Given the description of an element on the screen output the (x, y) to click on. 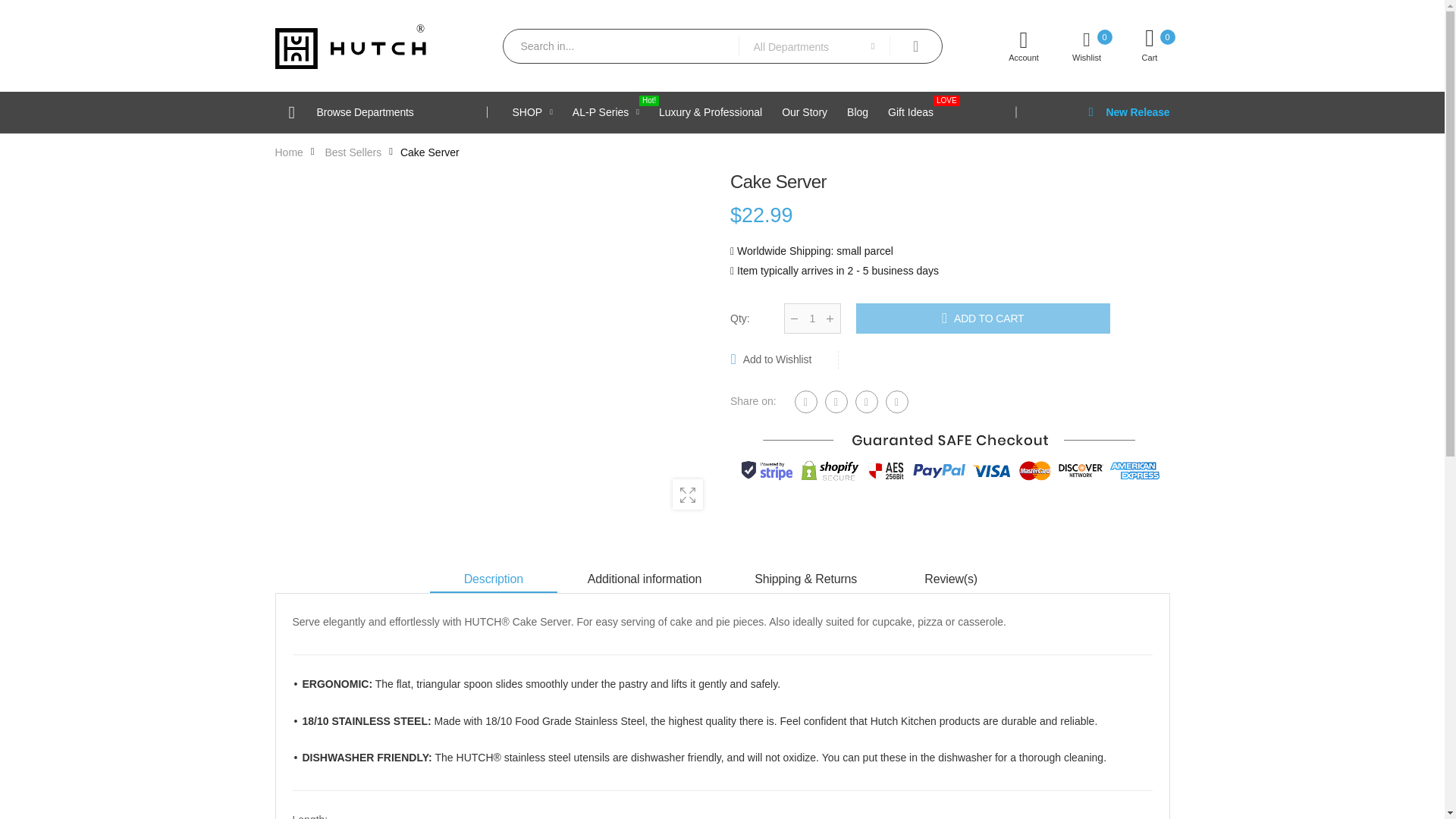
Best Sellers (352, 152)
Browse Departments (380, 111)
Home (1074, 45)
Browse Departments (288, 152)
SHOP (380, 111)
1 (532, 111)
Qty (811, 318)
Account (1138, 45)
